Given the description of an element on the screen output the (x, y) to click on. 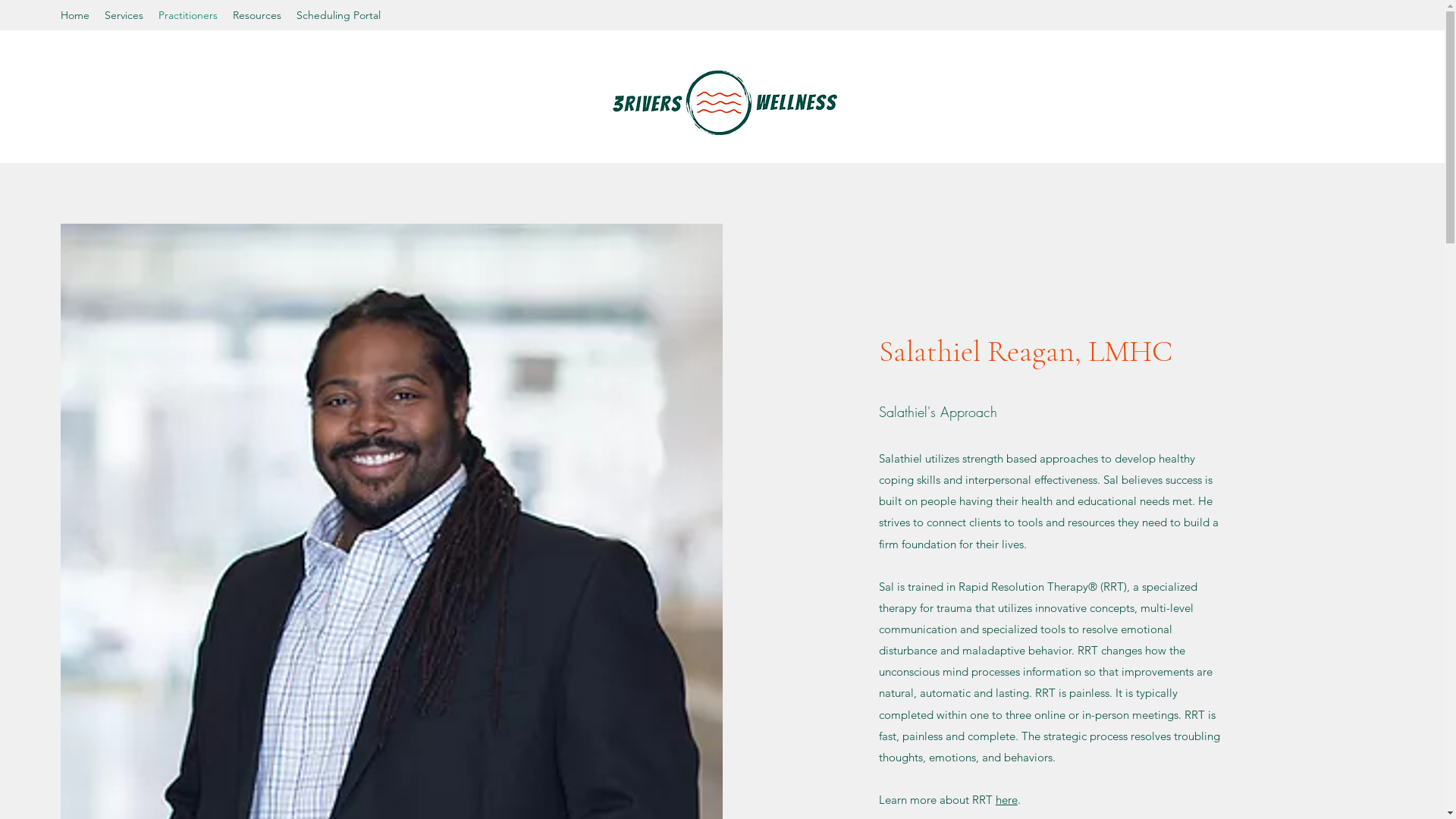
Scheduling Portal Element type: text (338, 14)
Resources Element type: text (256, 14)
Practitioners Element type: text (187, 14)
Services Element type: text (123, 14)
Home Element type: text (75, 14)
here Element type: text (1006, 799)
